Given the description of an element on the screen output the (x, y) to click on. 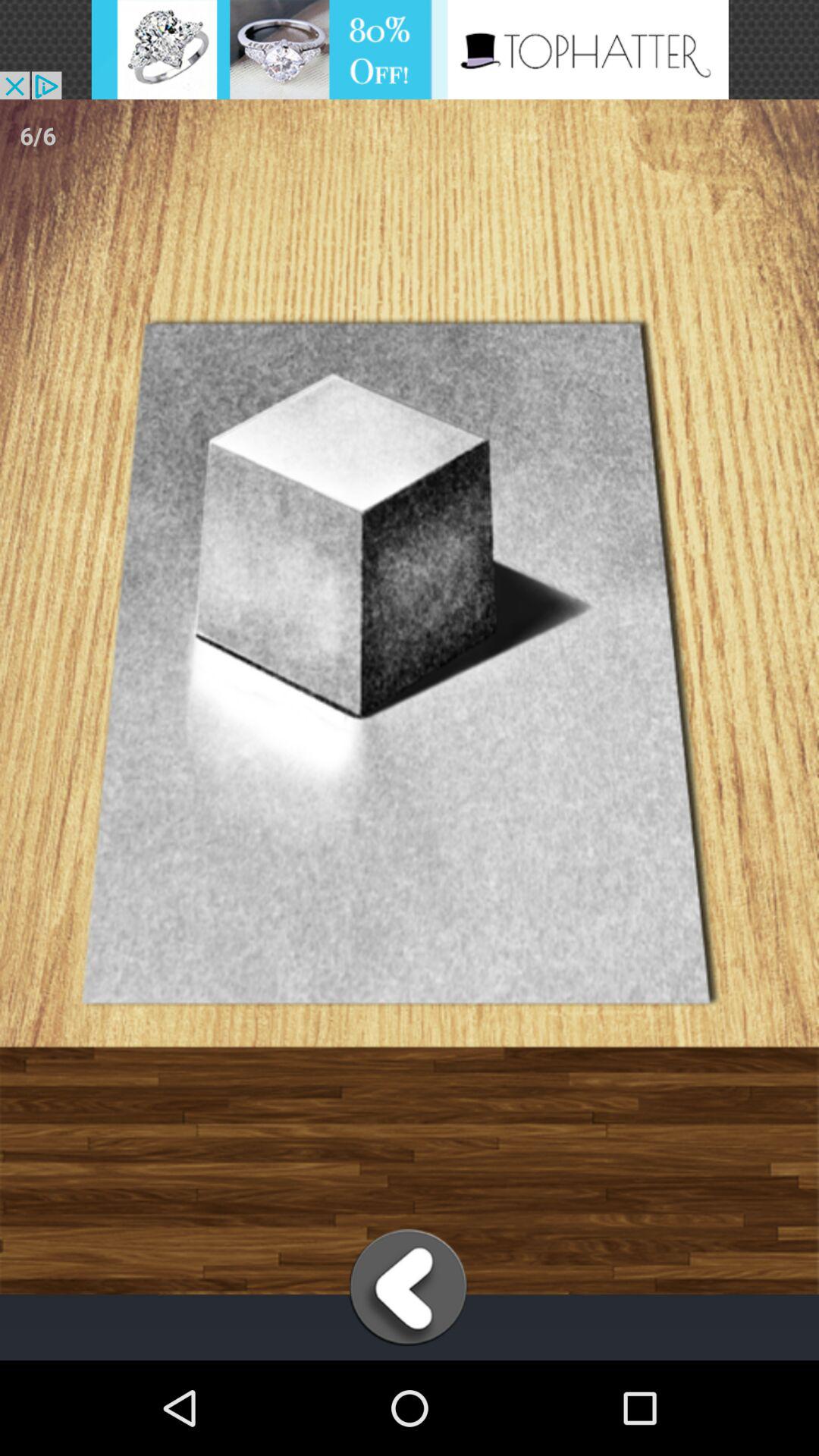
advertisement (409, 49)
